Given the description of an element on the screen output the (x, y) to click on. 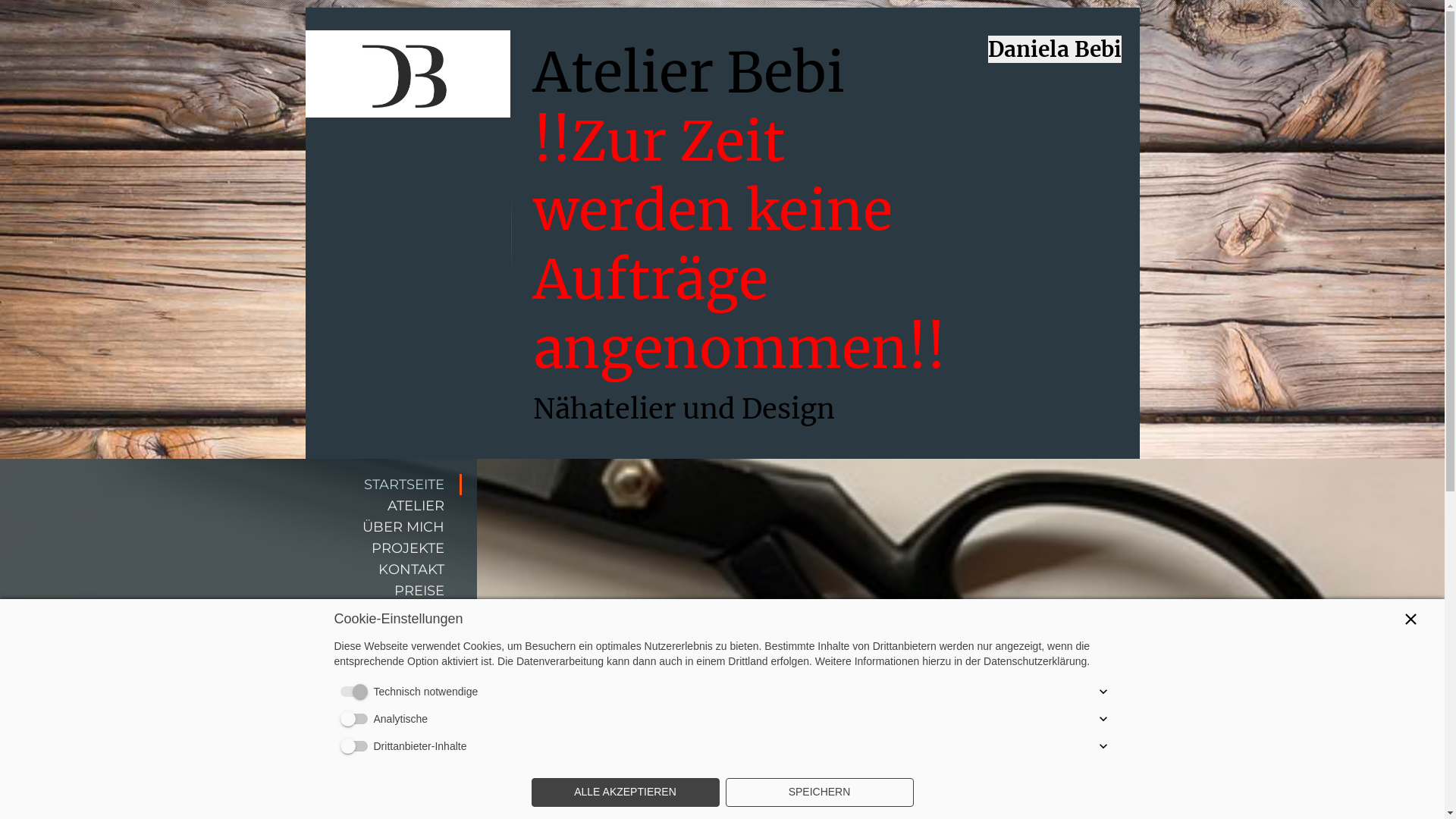
PROJEKTE Element type: text (230, 547)
STARTSEITE Element type: text (230, 484)
  Element type: text (406, 38)
KONTAKT Element type: text (230, 569)
SPEICHERN Element type: text (818, 792)
ALLE AKZEPTIEREN Element type: text (624, 792)
ATELIER Element type: text (230, 505)
PREISE Element type: text (230, 590)
